Given the description of an element on the screen output the (x, y) to click on. 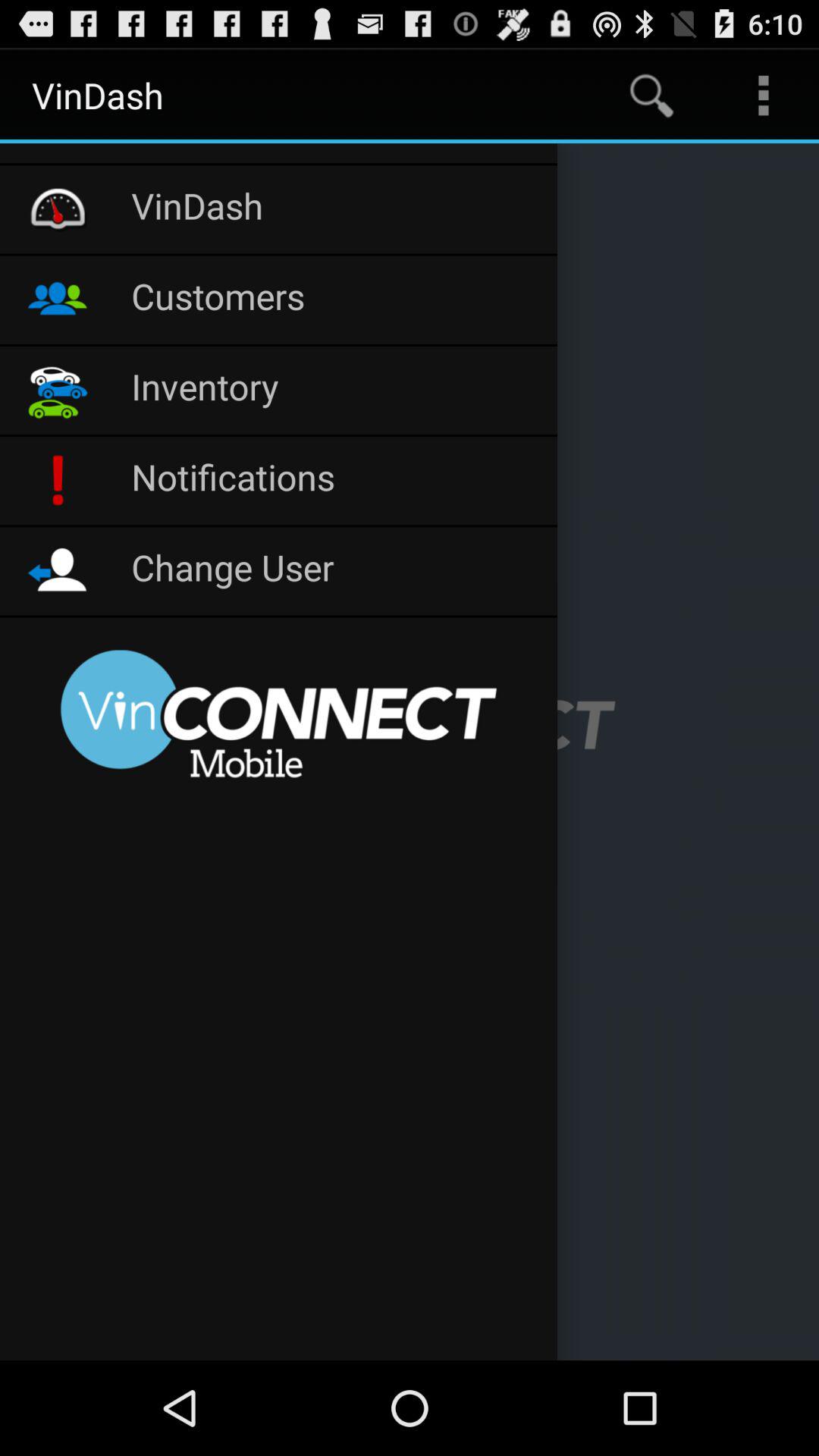
turn on the inventory (336, 389)
